Given the description of an element on the screen output the (x, y) to click on. 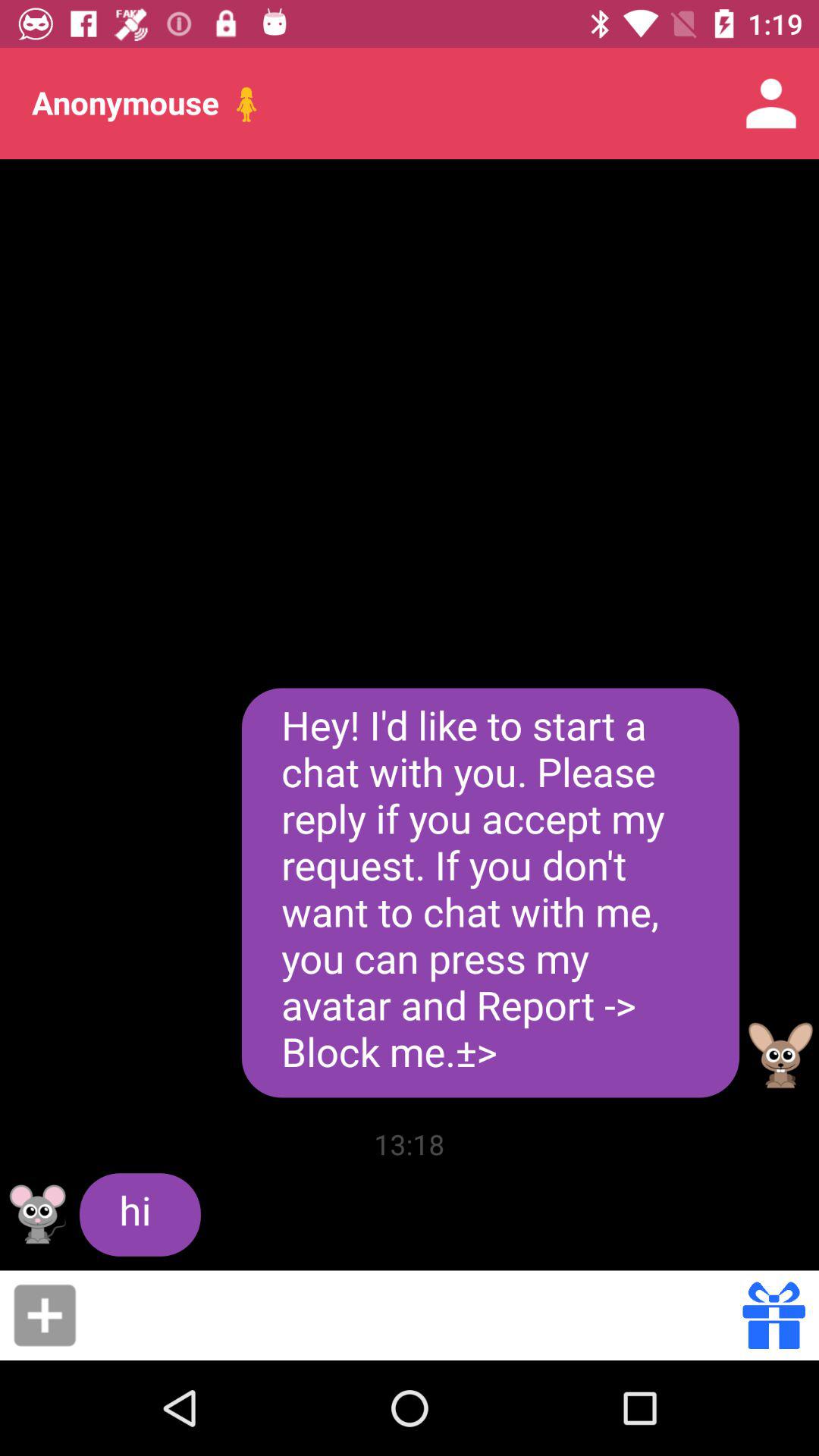
click icon next to 13:18 item (139, 1214)
